Given the description of an element on the screen output the (x, y) to click on. 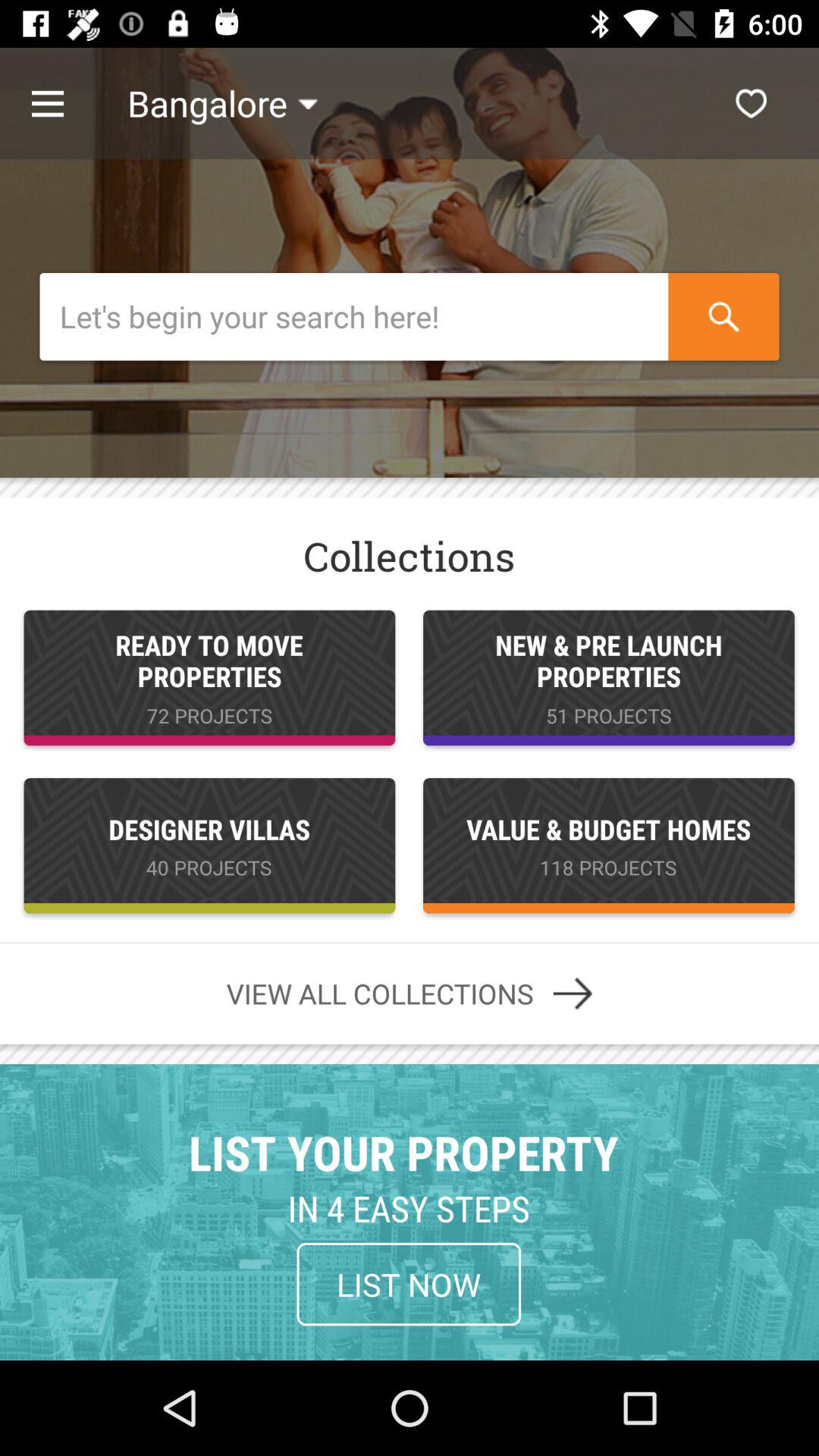
favorite (751, 103)
